Given the description of an element on the screen output the (x, y) to click on. 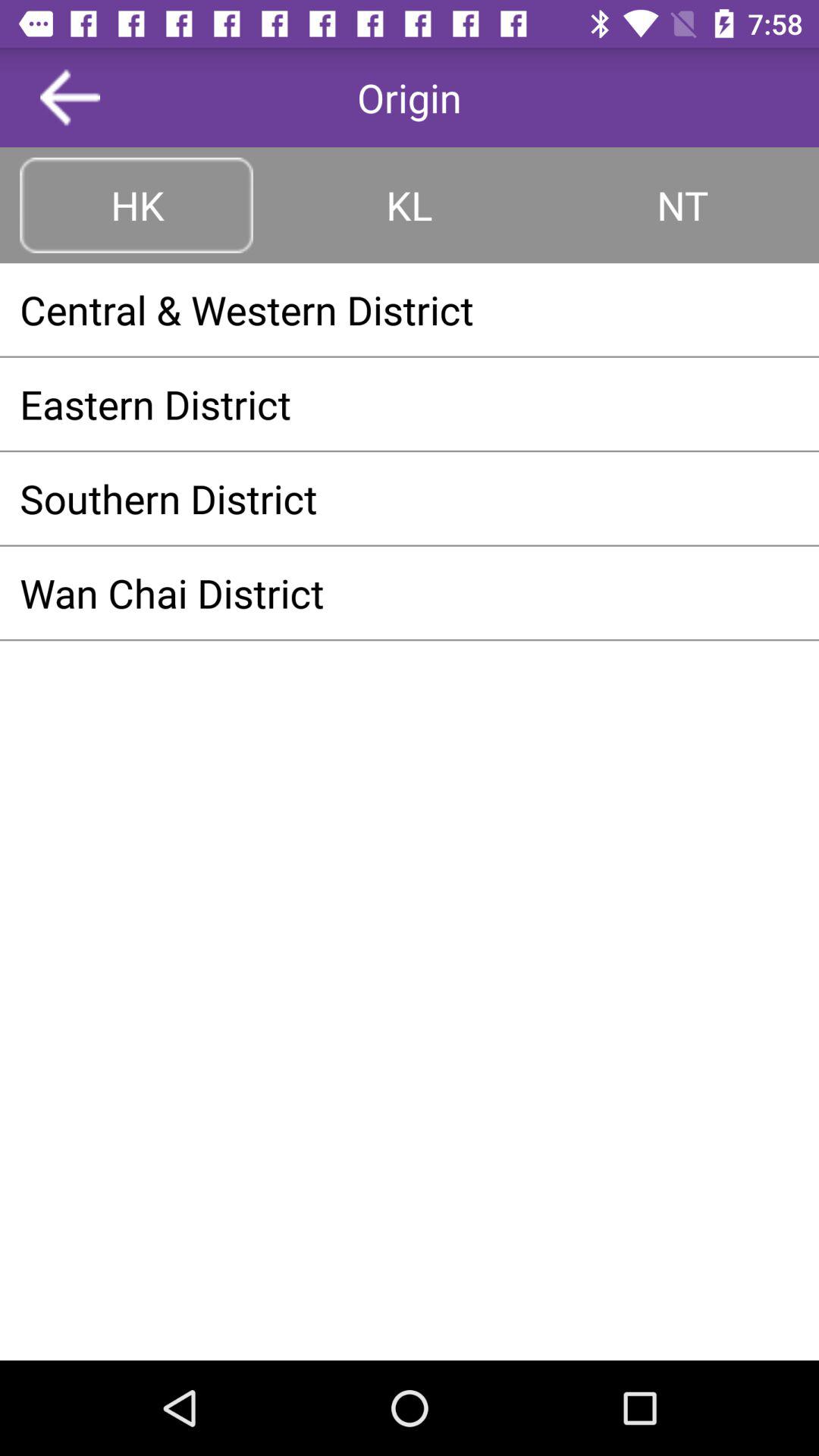
click button above hk item (69, 97)
